Given the description of an element on the screen output the (x, y) to click on. 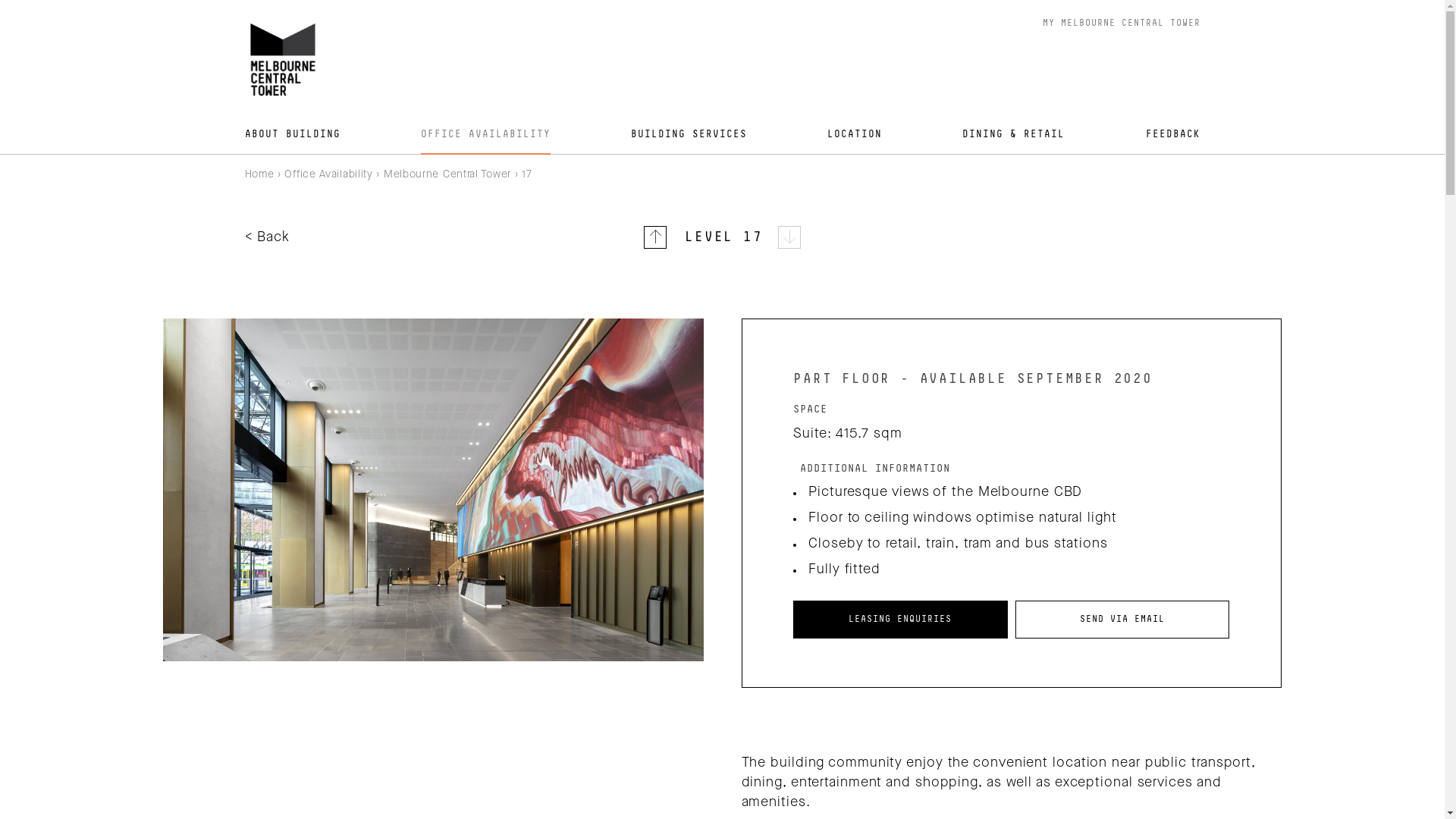
Melbourne Central Tower Element type: text (447, 173)
< Back Element type: text (266, 236)
OFFICE AVAILABILITY Element type: text (485, 133)
ABOUT BUILDING Element type: text (291, 133)
DINING & RETAIL Element type: text (1013, 133)
Up one level Element type: text (654, 236)
MY MELBOURNE CENTRAL TOWER Element type: text (1120, 23)
FEEDBACK Element type: text (1172, 133)
LEASING ENQUIRIES Element type: text (900, 619)
BUILDING SERVICES Element type: text (688, 133)
Office Availability Element type: text (328, 173)
SEND VIA EMAIL Element type: text (1122, 619)
Home Element type: text (258, 173)
LOCATION Element type: text (854, 133)
